Given the description of an element on the screen output the (x, y) to click on. 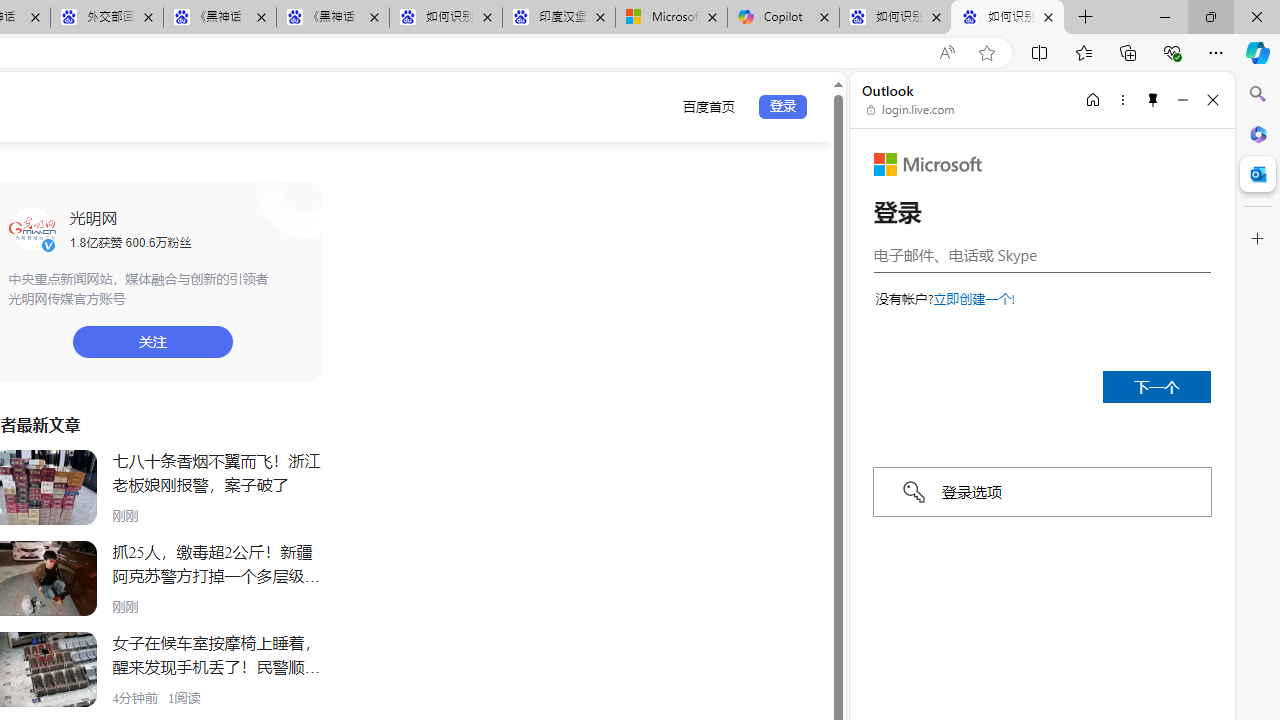
login.live.com (911, 110)
